Given the description of an element on the screen output the (x, y) to click on. 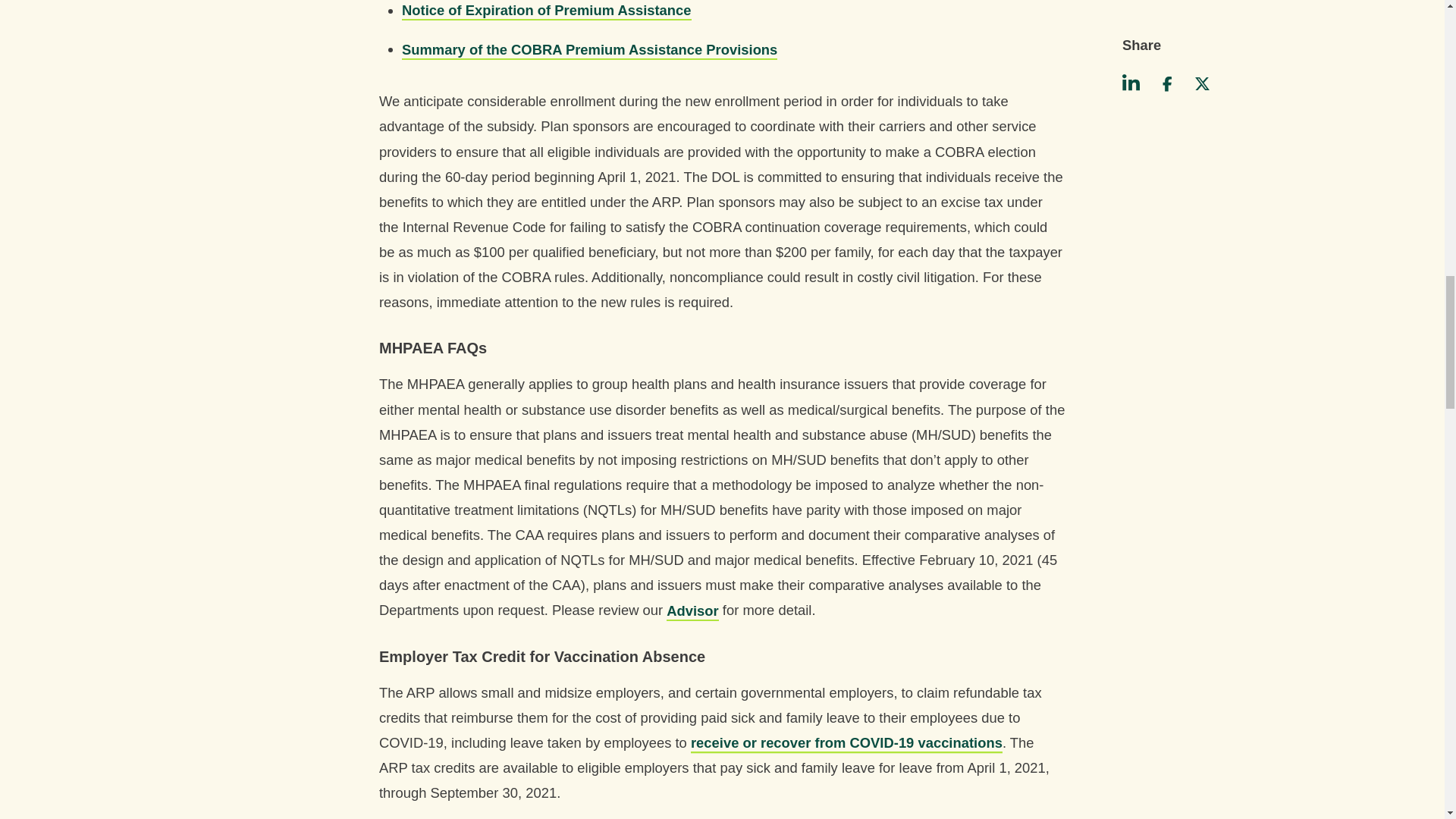
Notice of Expiration of Premium Assistance (546, 10)
Advisor (691, 609)
Summary of the COBRA Premium Assistance Provisions (589, 48)
receive or recover from COVID-19 vaccinations (846, 742)
